Given the description of an element on the screen output the (x, y) to click on. 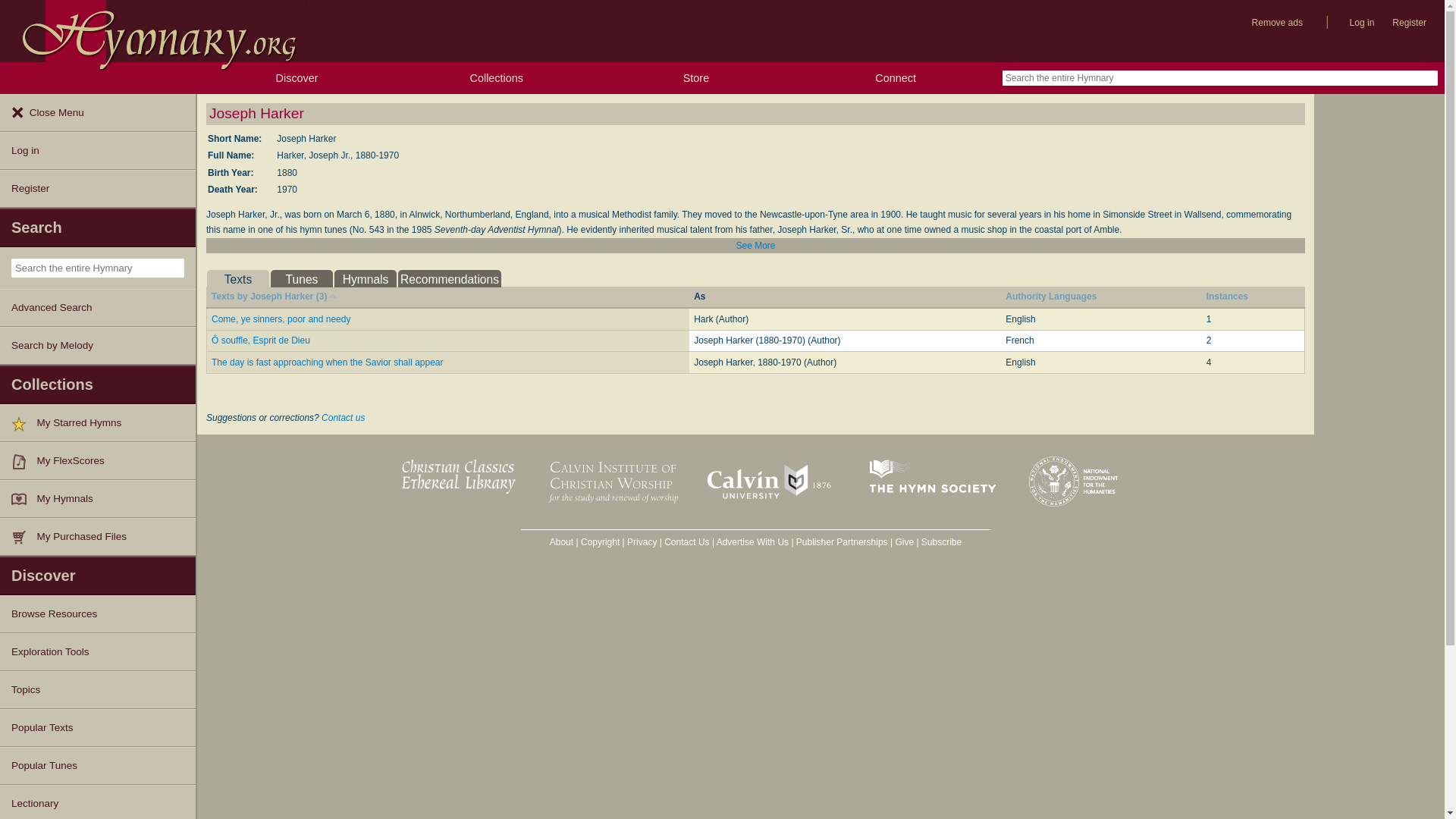
Home Page (153, 31)
Product (24, 537)
Log in (1361, 22)
Store (694, 78)
Remove ads (1277, 22)
Close Menu (97, 112)
Flexscore (24, 461)
Click to expand (755, 245)
Log in (97, 150)
In my hymnals (24, 499)
Advanced Search (97, 307)
Register (1408, 22)
Register (97, 188)
